Given the description of an element on the screen output the (x, y) to click on. 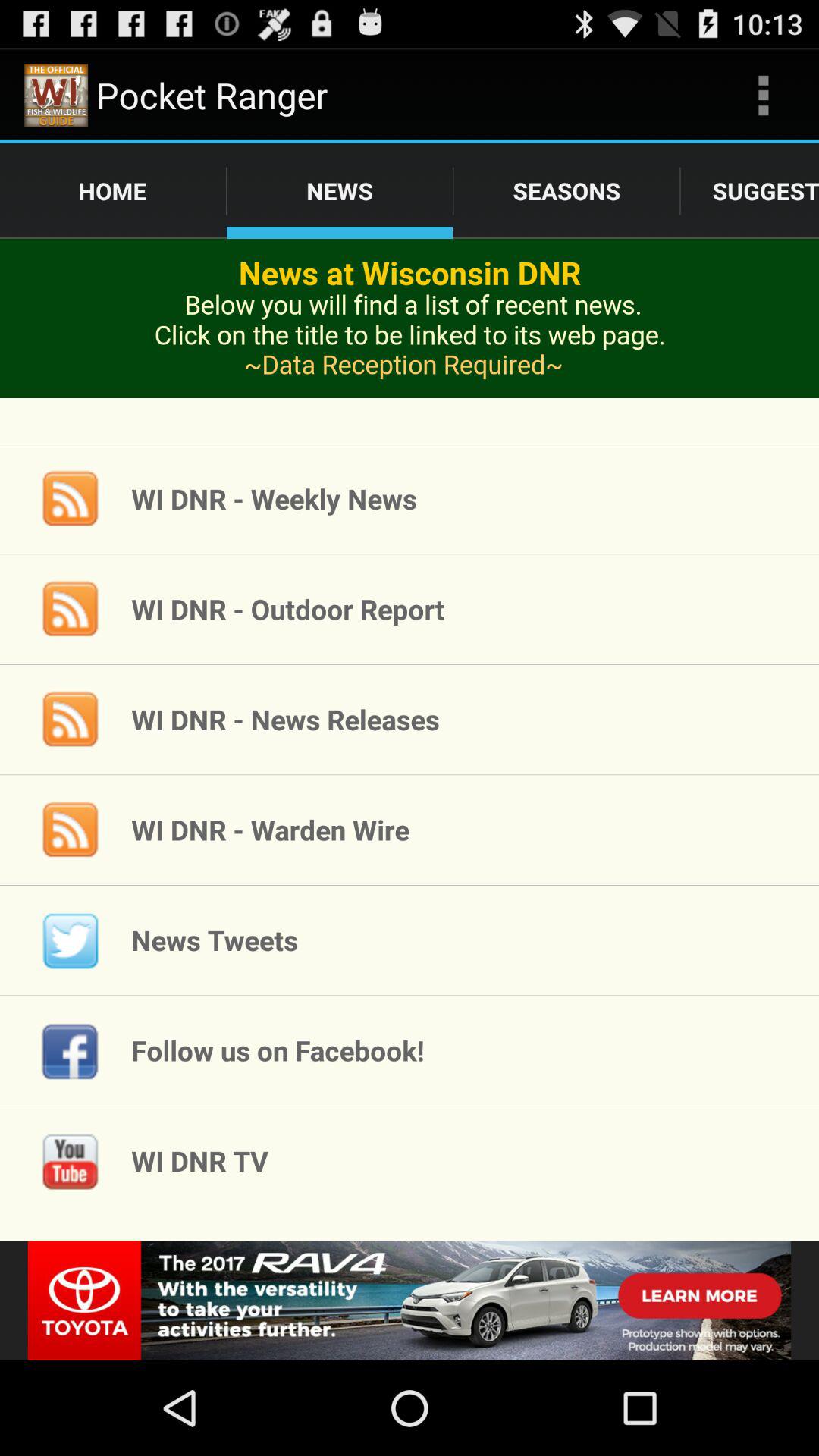
advertisement banner (409, 1300)
